Given the description of an element on the screen output the (x, y) to click on. 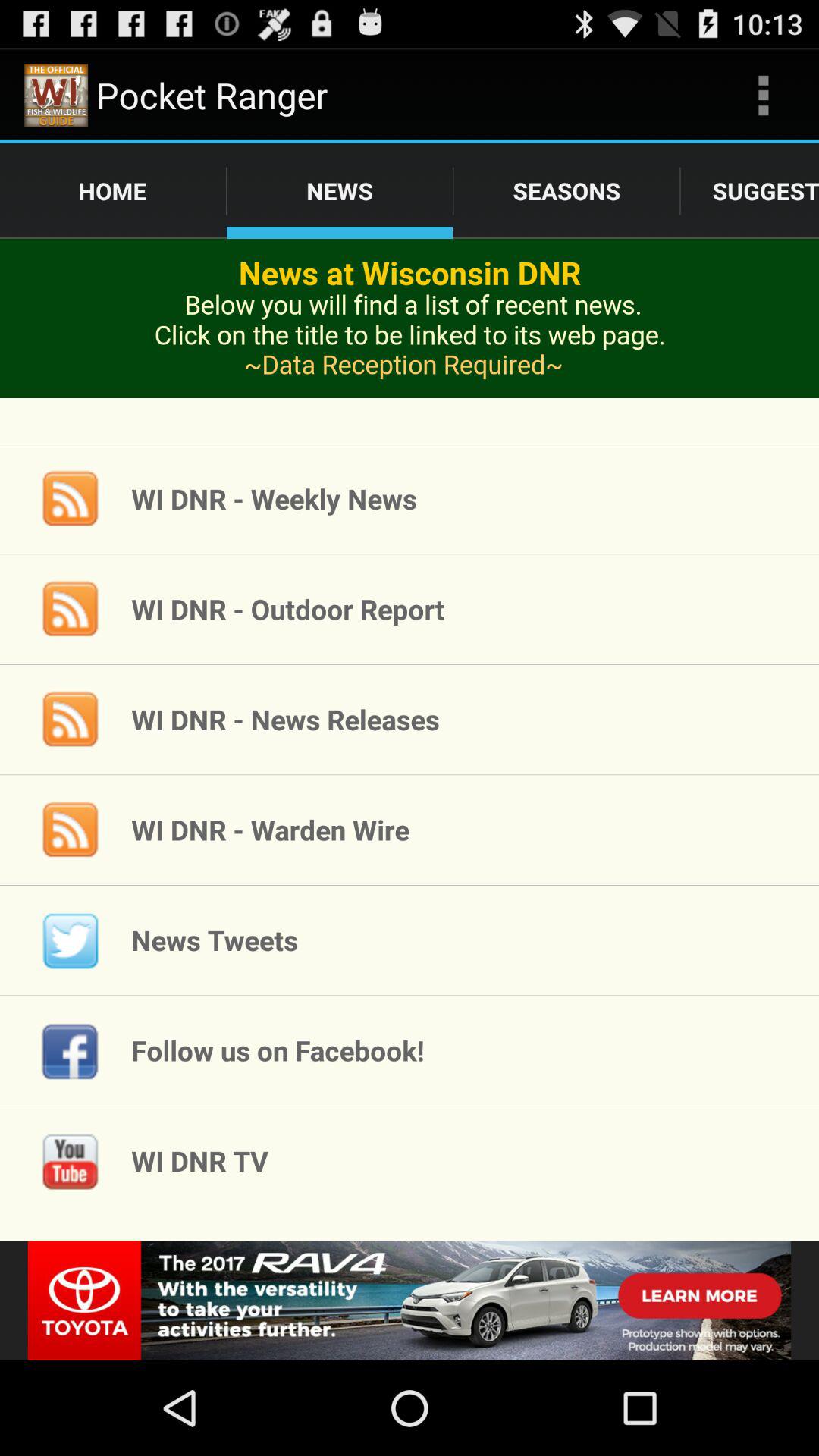
advertisement banner (409, 1300)
